Given the description of an element on the screen output the (x, y) to click on. 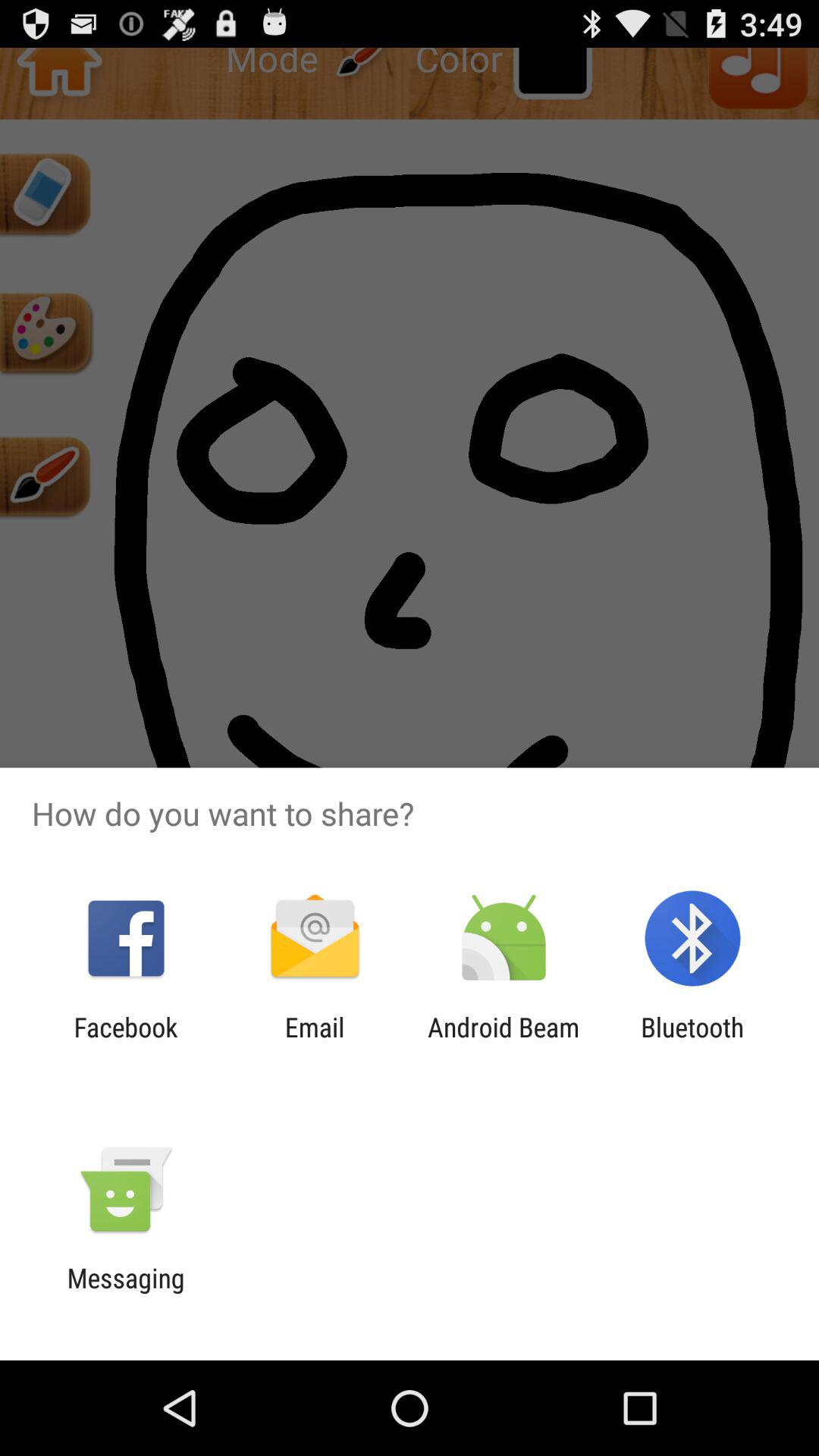
tap app next to bluetooth icon (503, 1042)
